Given the description of an element on the screen output the (x, y) to click on. 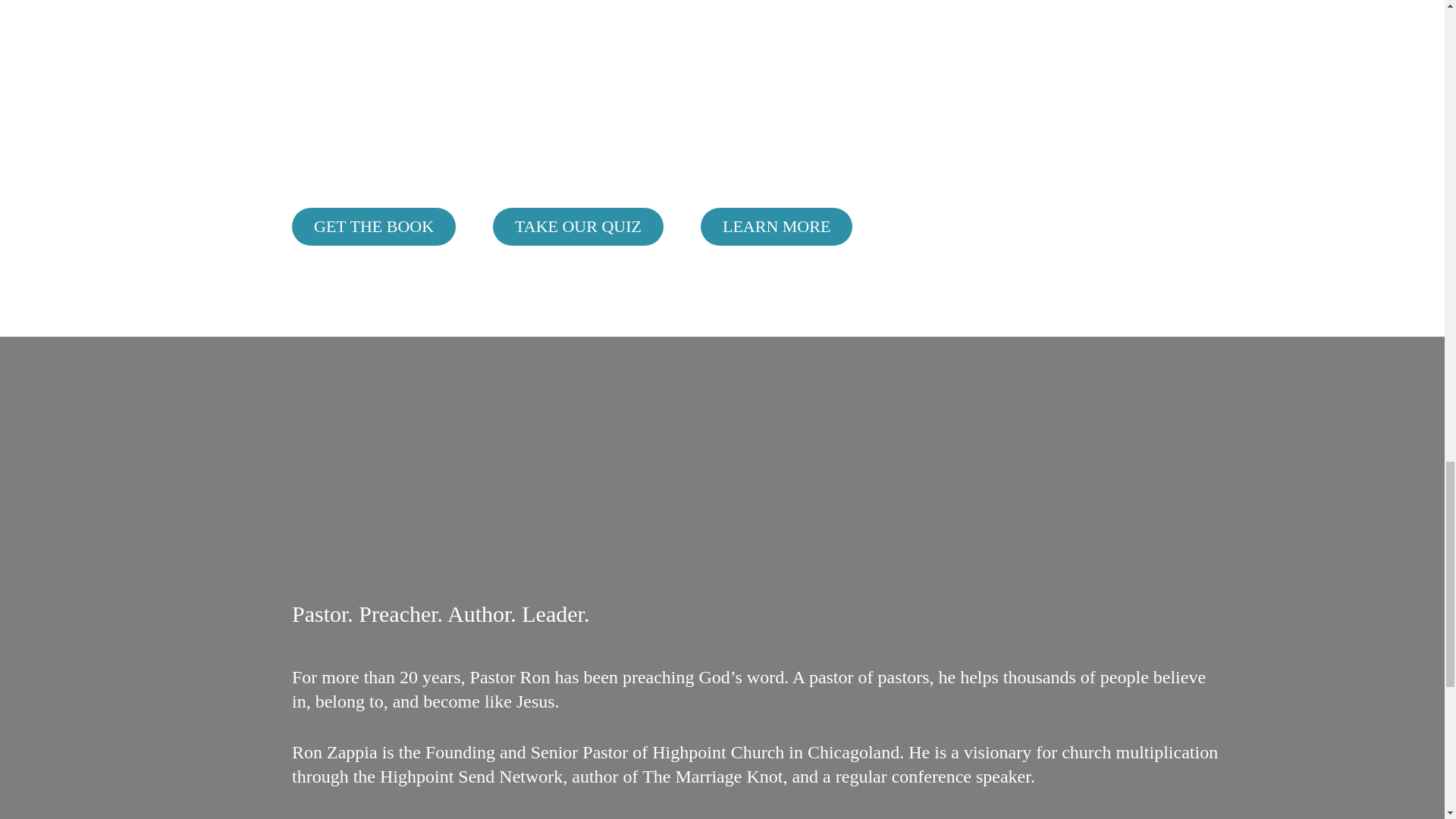
GET THE BOOK (373, 226)
LEARN MORE (775, 226)
TAKE OUR QUIZ (578, 226)
